Given the description of an element on the screen output the (x, y) to click on. 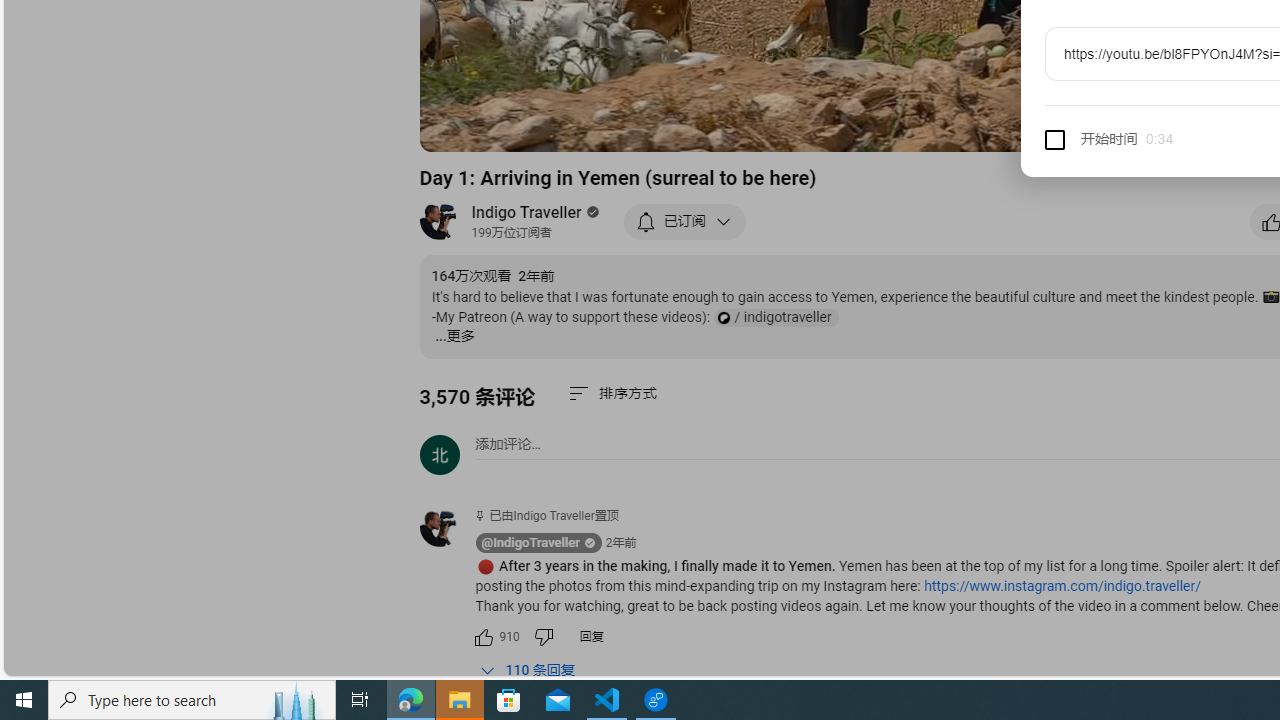
Intro (683, 127)
Indigo Traveller (527, 211)
